Given the description of an element on the screen output the (x, y) to click on. 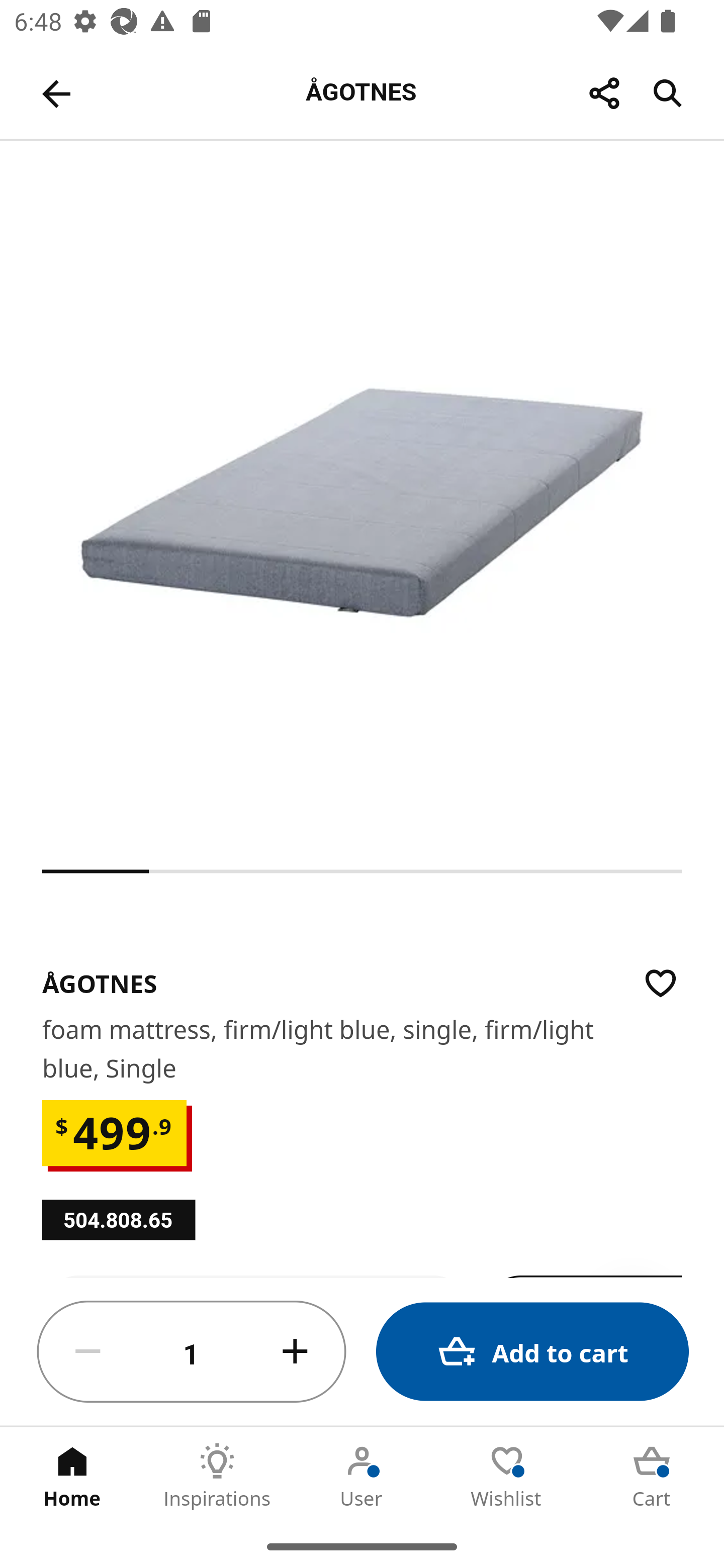
Add to cart (531, 1352)
1 (191, 1352)
Home
Tab 1 of 5 (72, 1476)
Inspirations
Tab 2 of 5 (216, 1476)
User
Tab 3 of 5 (361, 1476)
Wishlist
Tab 4 of 5 (506, 1476)
Cart
Tab 5 of 5 (651, 1476)
